Given the description of an element on the screen output the (x, y) to click on. 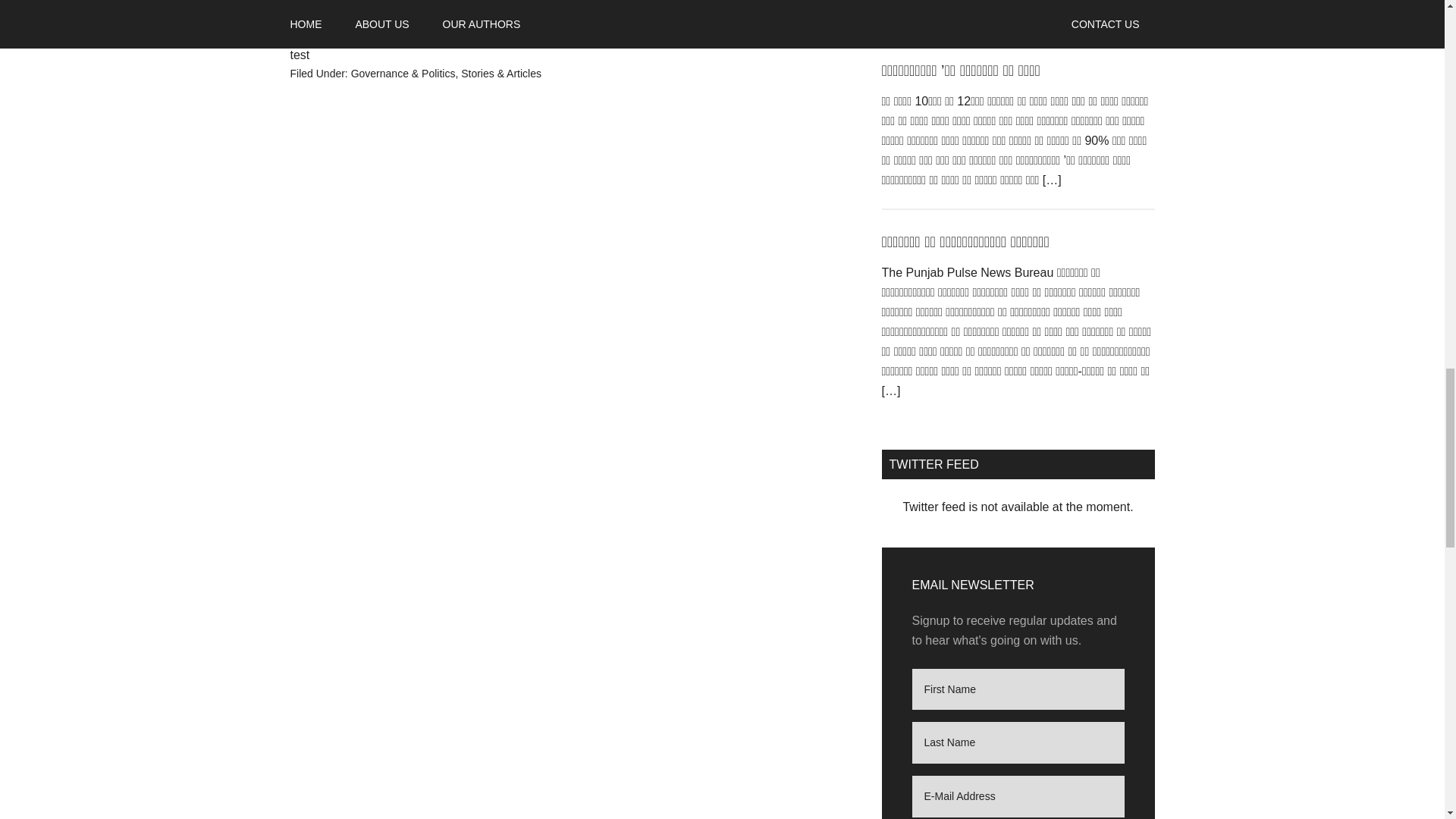
Google Gmail (512, 30)
Twitter (334, 30)
Instagram (452, 30)
Telegram (481, 30)
Linkedin (363, 30)
Pinterest (393, 30)
Facebook (304, 30)
Whatsapp (422, 30)
